Given the description of an element on the screen output the (x, y) to click on. 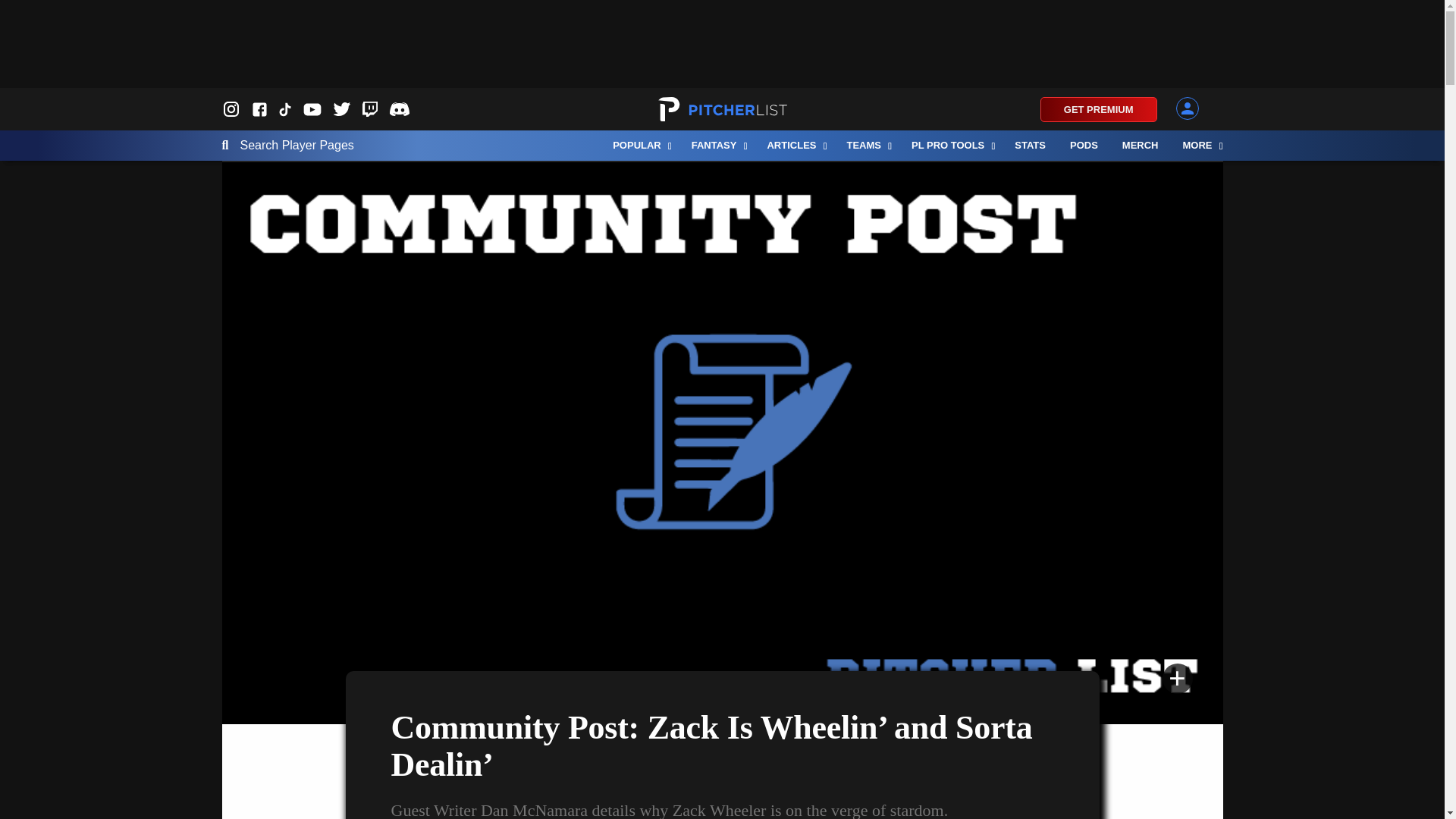
FANTASY (717, 145)
GET PREMIUM (1099, 109)
